Given the description of an element on the screen output the (x, y) to click on. 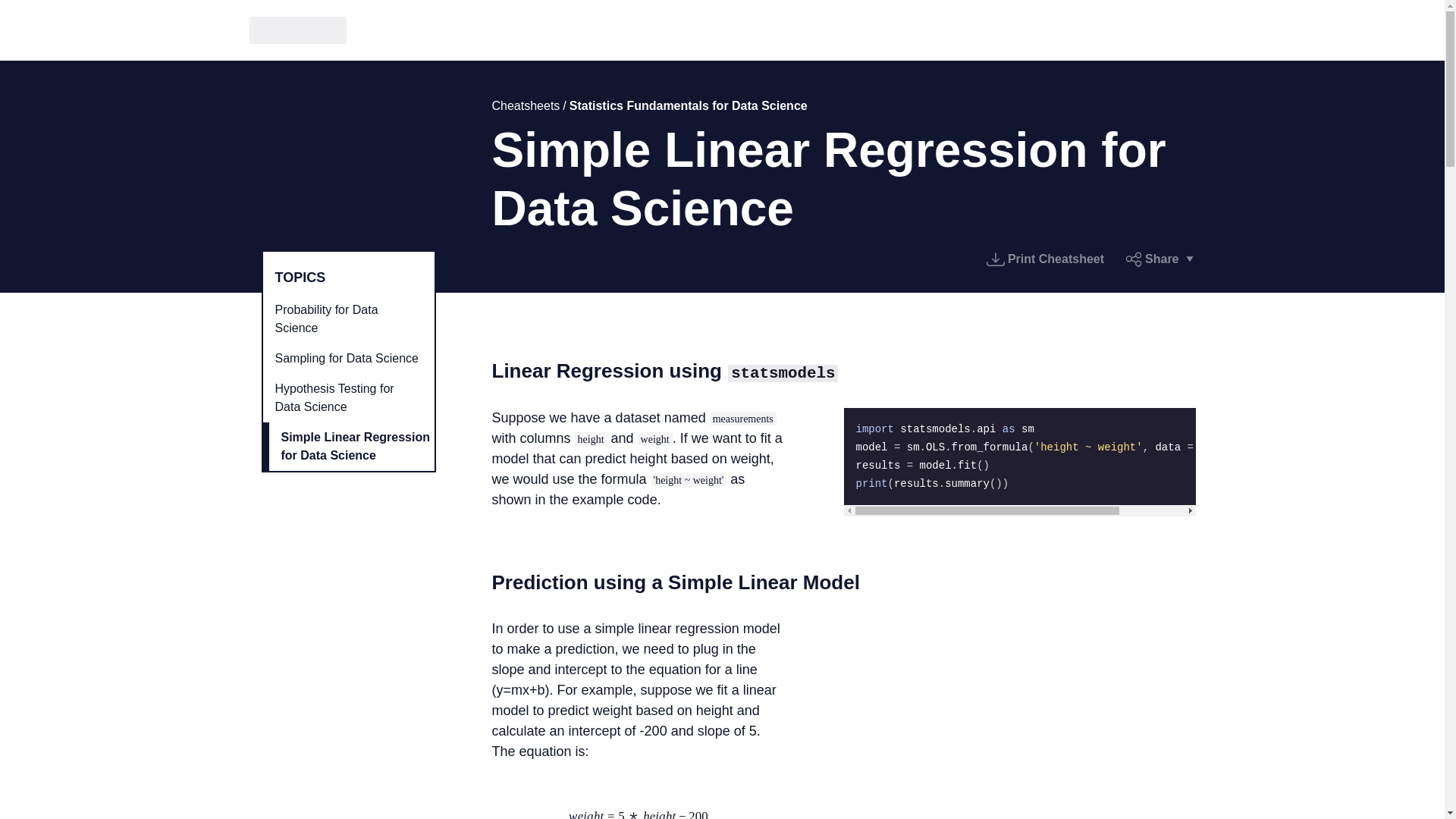
Share (1159, 259)
Probability for Data Science (347, 318)
Sampling for Data Science (347, 358)
Cheatsheets (525, 105)
Hypothesis Testing for Data Science (347, 397)
Print Cheatsheet (1045, 259)
